Given the description of an element on the screen output the (x, y) to click on. 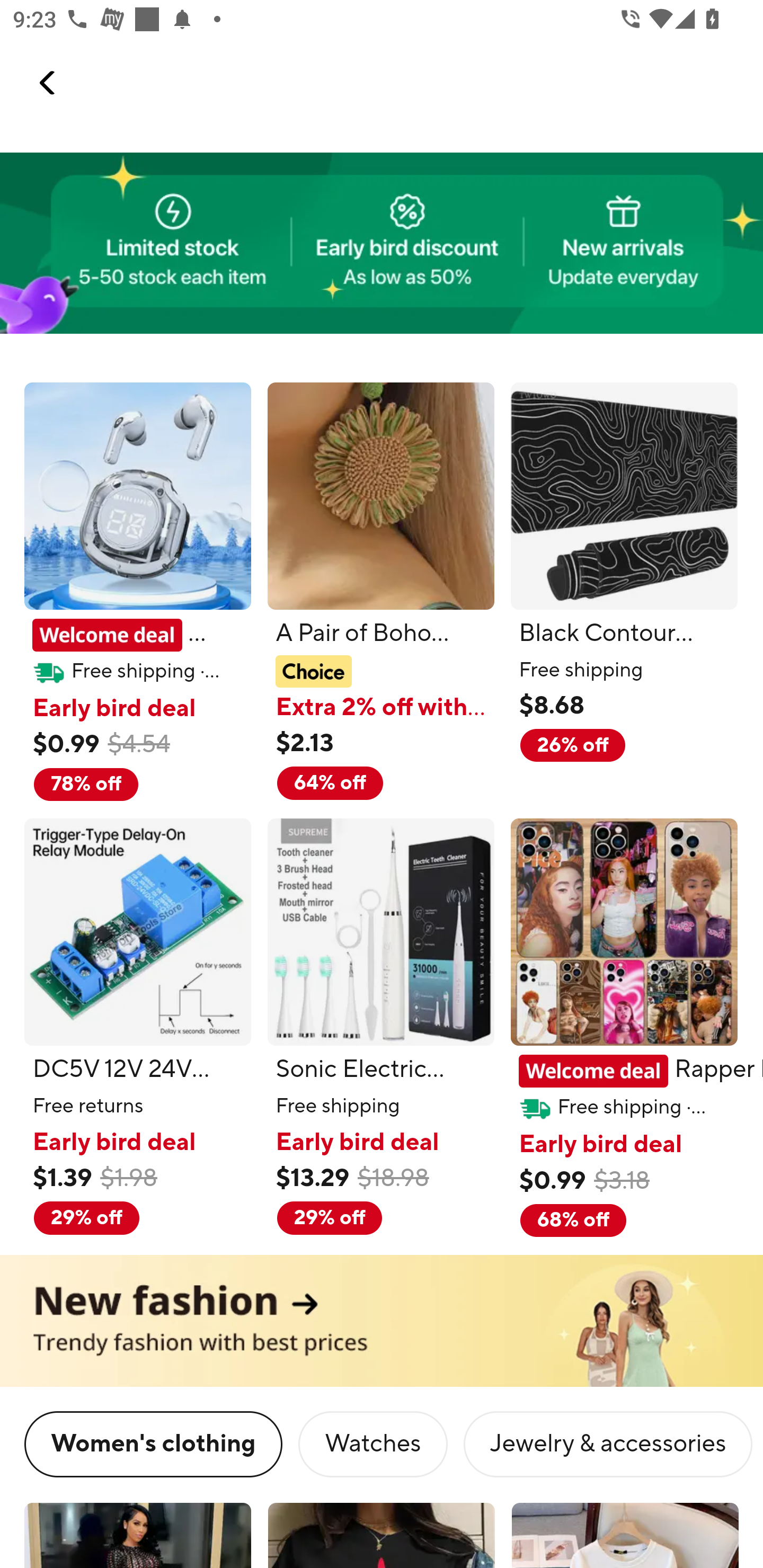
 (48, 82)
Women's clothing (153, 1445)
Watches (372, 1445)
Jewelry & accessories (607, 1445)
